Given the description of an element on the screen output the (x, y) to click on. 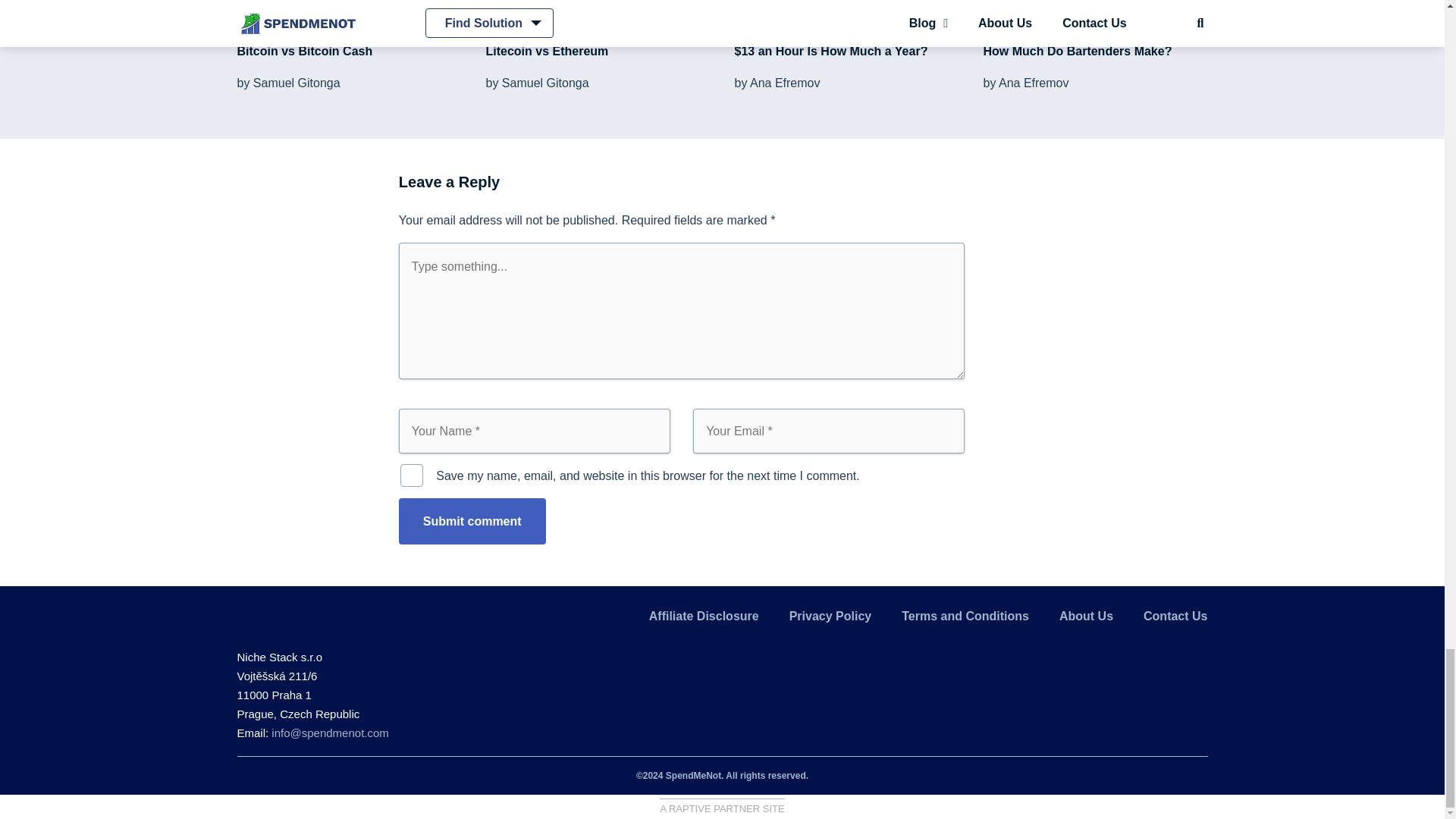
Submit comment (472, 520)
Bitcoin vs Bitcoin Cash (303, 51)
Litecoin vs Ethereum (546, 51)
